Given the description of an element on the screen output the (x, y) to click on. 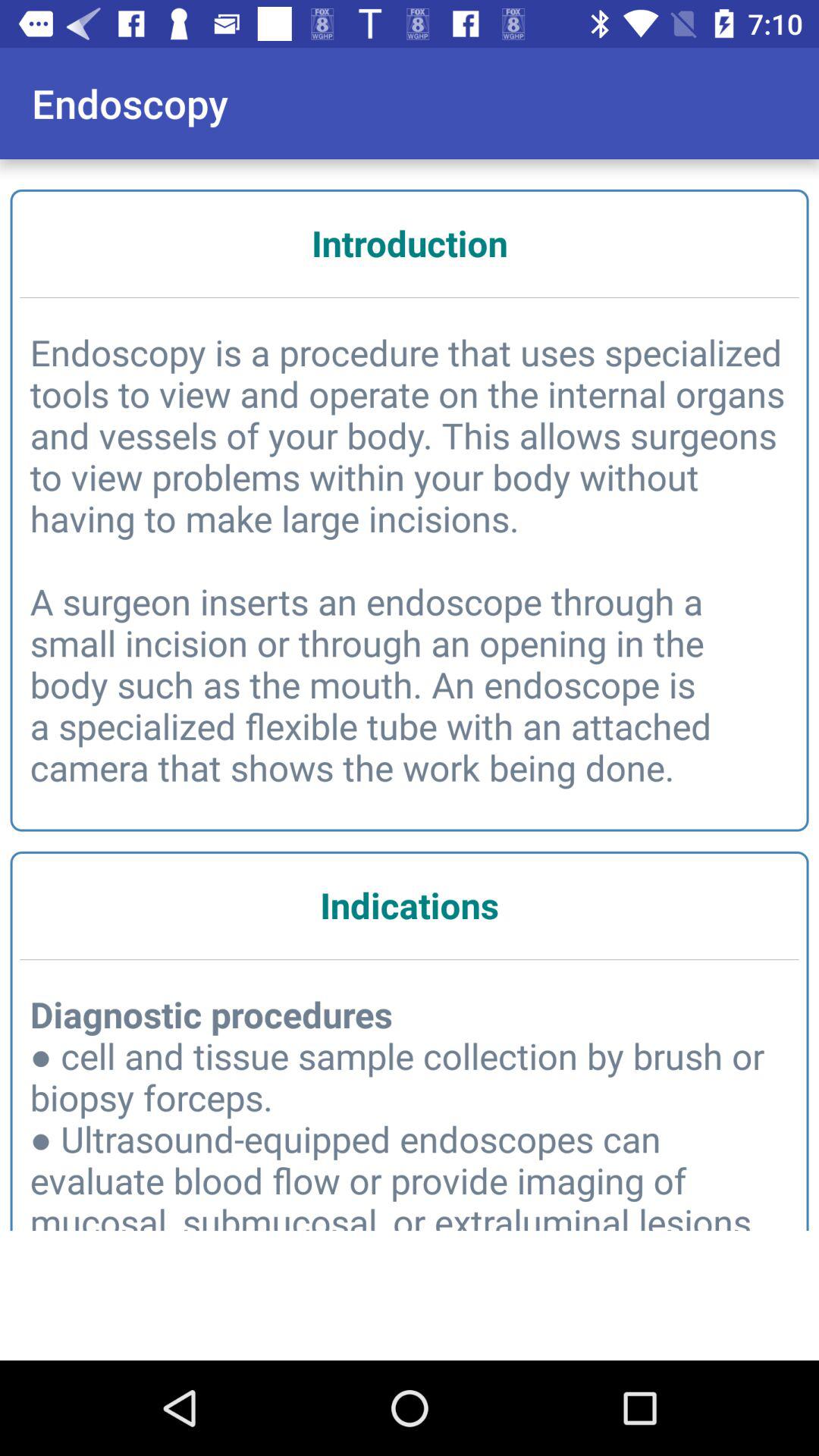
swipe to diagnostic procedures cell (409, 1115)
